Given the description of an element on the screen output the (x, y) to click on. 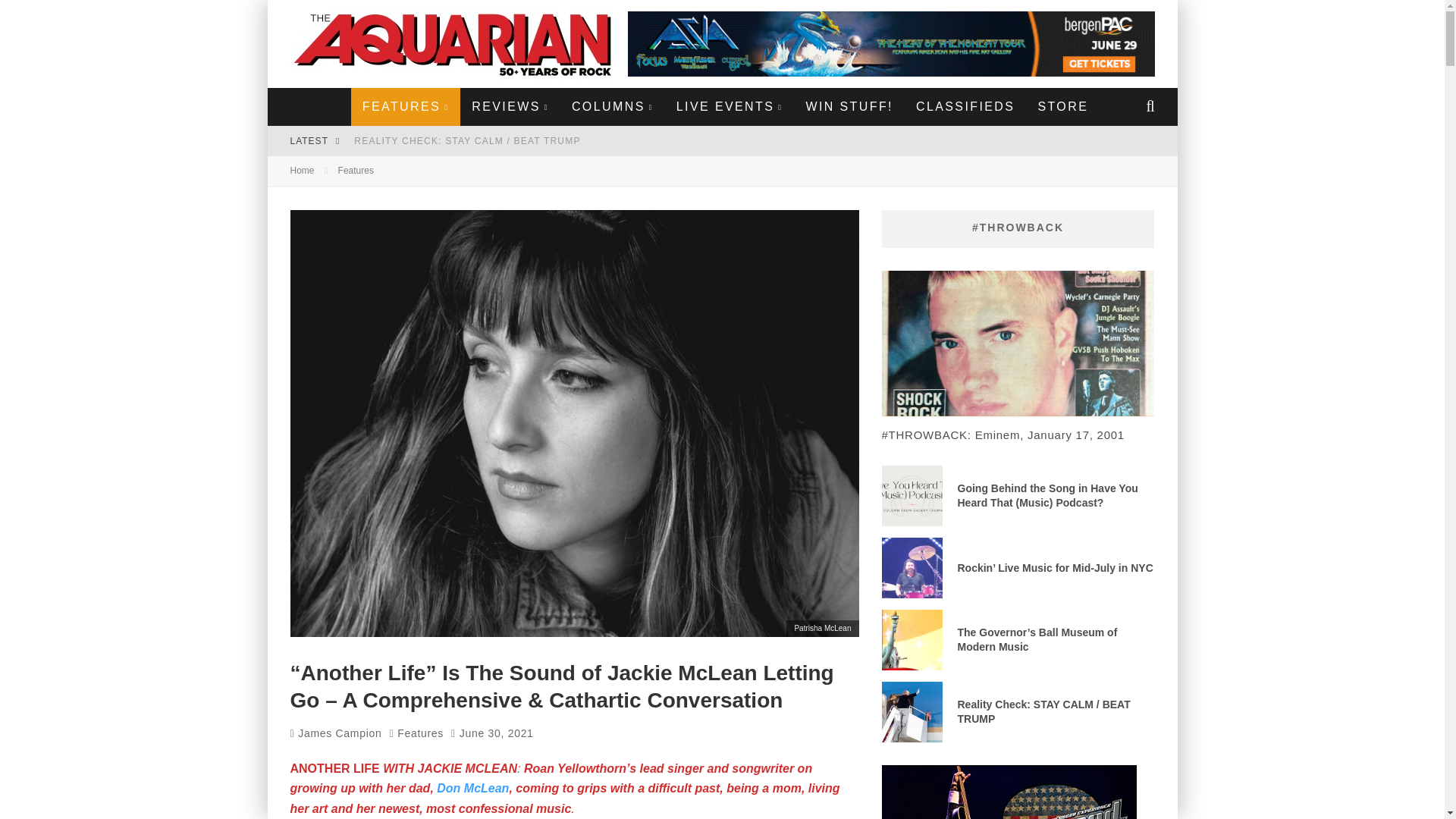
REVIEWS (510, 106)
COLUMNS (612, 106)
FEATURES (405, 106)
